Given the description of an element on the screen output the (x, y) to click on. 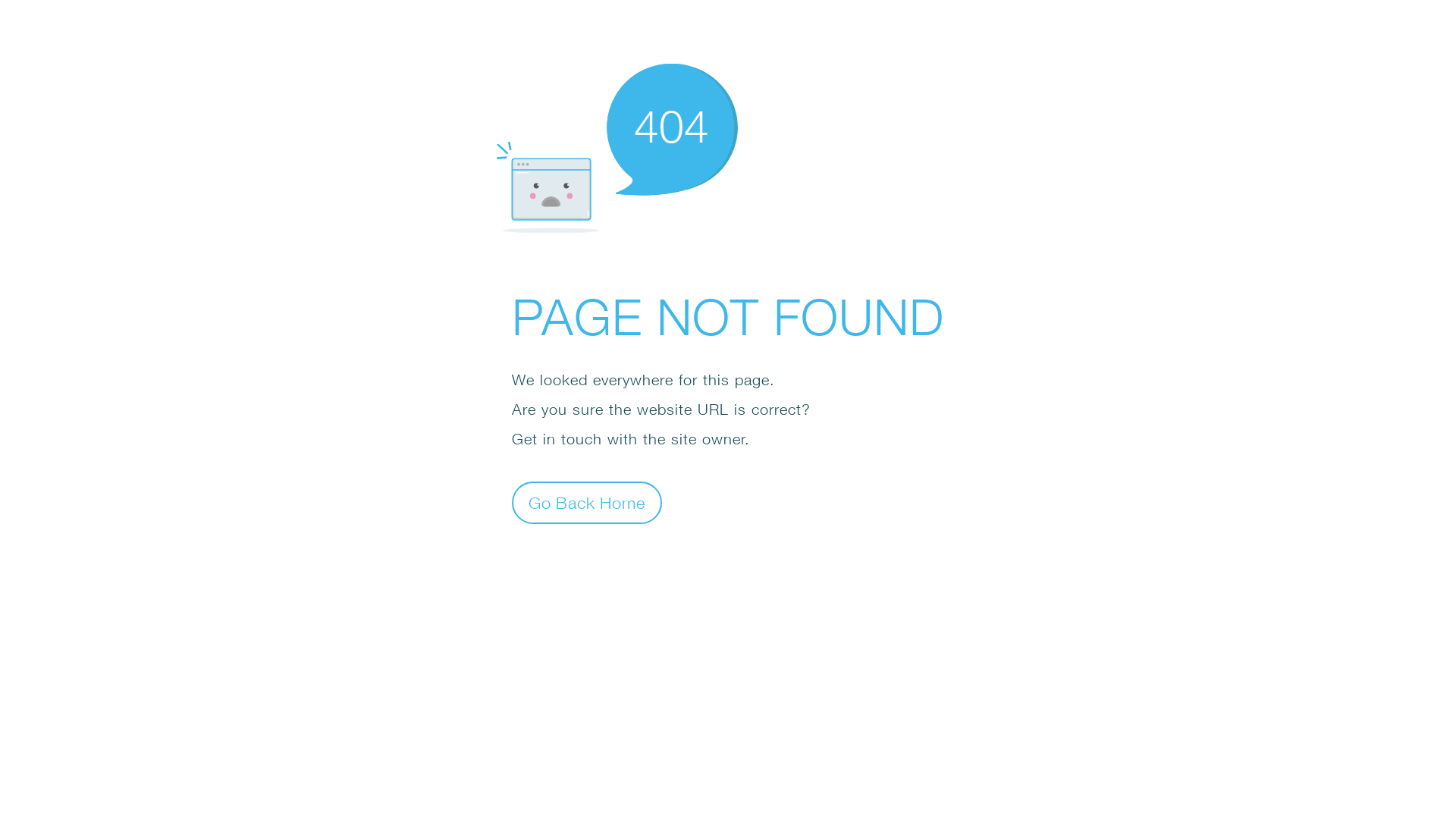
Go Back Home Element type: text (586, 502)
